Given the description of an element on the screen output the (x, y) to click on. 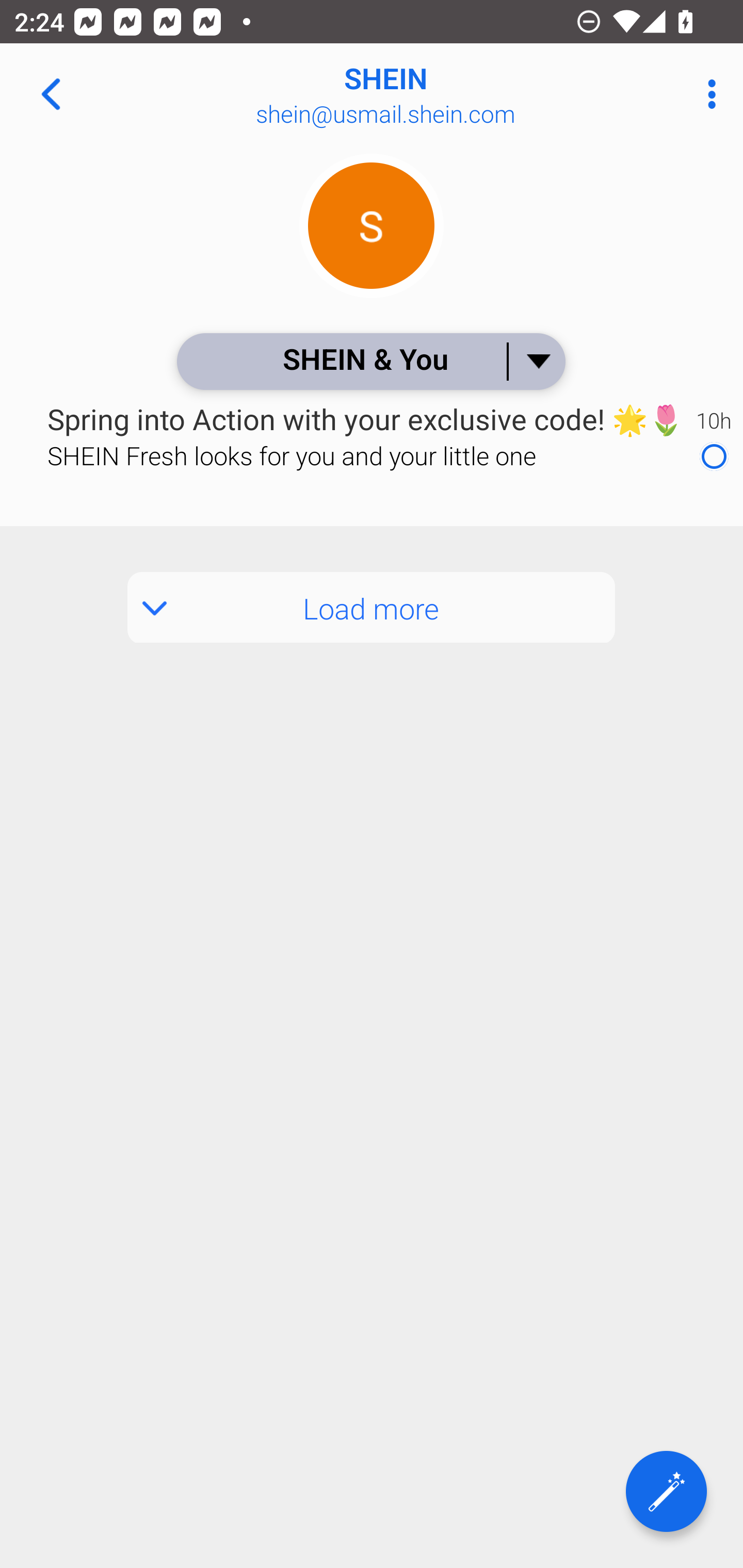
Navigate up (50, 93)
SHEIN shein@usmail.shein.com (436, 93)
More Options (706, 93)
SHEIN & You (370, 361)
Load more (371, 607)
